Given the description of an element on the screen output the (x, y) to click on. 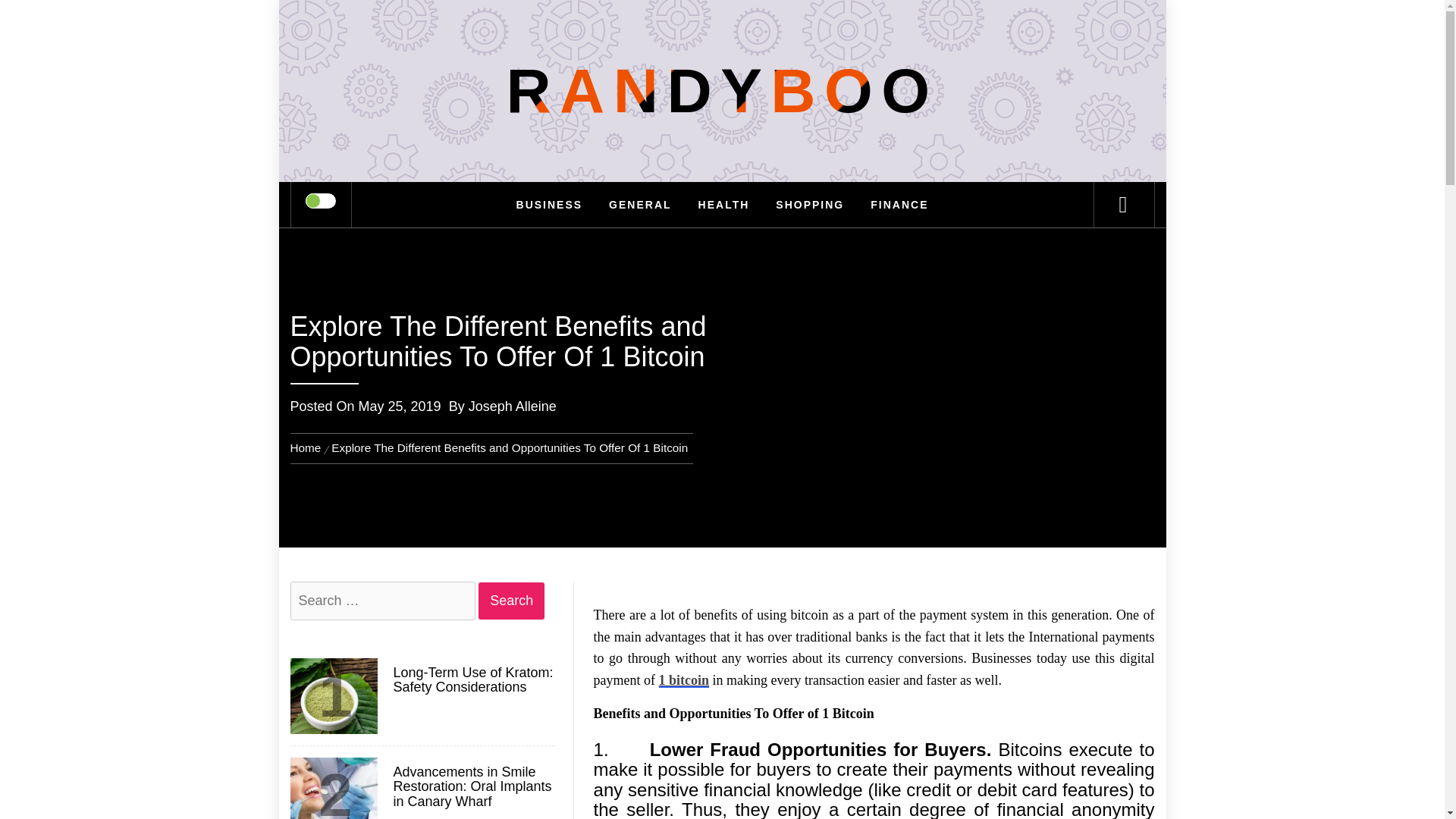
FINANCE (899, 204)
Joseph Alleine (512, 406)
HEALTH (724, 204)
Search (797, 33)
GENERAL (639, 204)
Search (511, 600)
BUSINESS (549, 204)
Long-Term Use of Kratom: Safety Considerations (471, 680)
1 bitcoin (684, 679)
Search (511, 600)
SHOPPING (810, 204)
Search (511, 600)
Home (307, 447)
May 25, 2019 (399, 406)
